Given the description of an element on the screen output the (x, y) to click on. 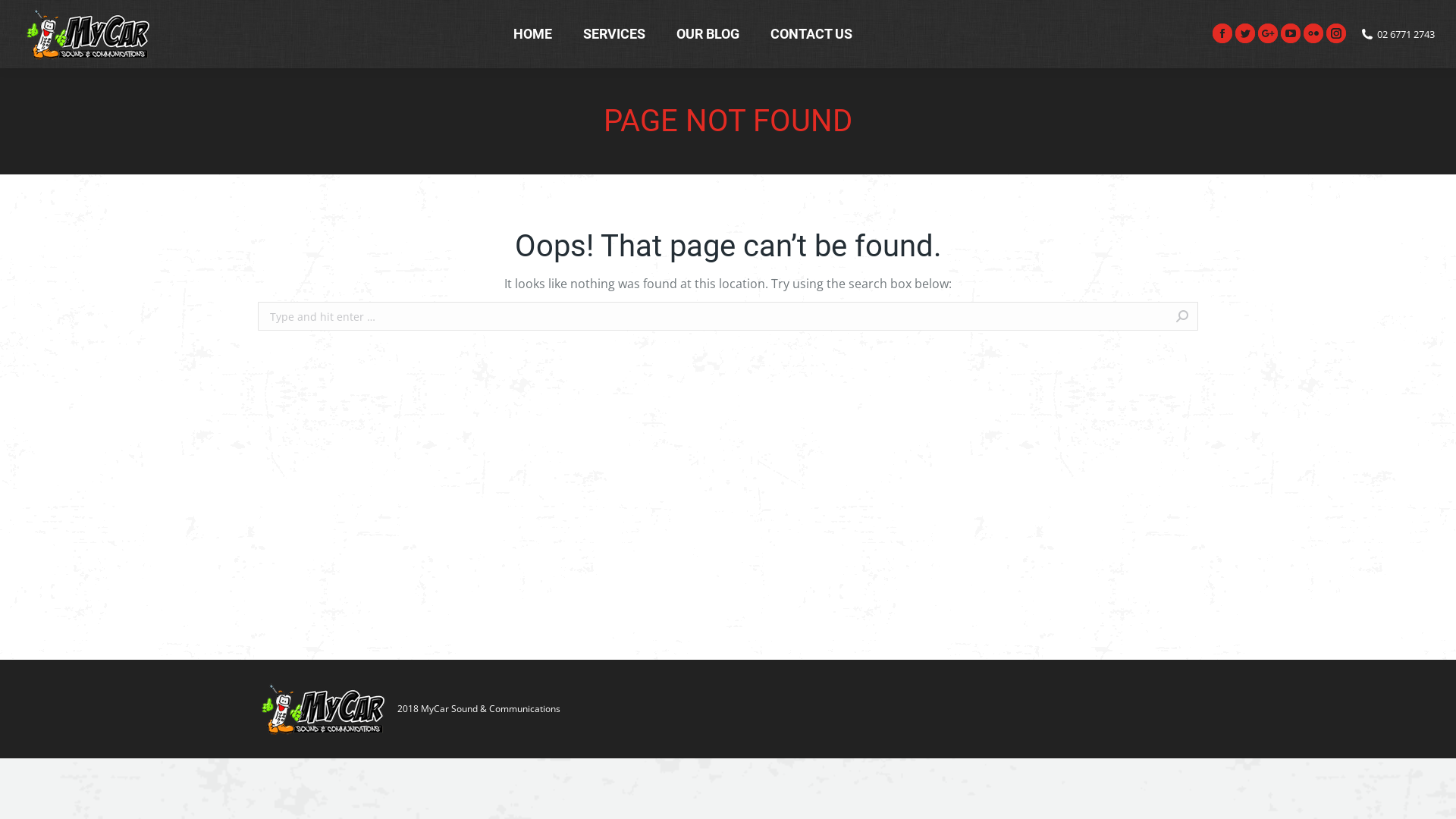
CONTACT US Element type: text (811, 34)
SERVICES Element type: text (613, 34)
Twitter Element type: text (1245, 33)
Go! Element type: text (1220, 315)
Facebook Element type: text (1222, 33)
Google+ Element type: text (1267, 33)
Flickr Element type: text (1313, 33)
Instagram Element type: text (1336, 33)
OUR BLOG Element type: text (707, 34)
YouTube Element type: text (1290, 33)
HOME Element type: text (532, 34)
